Given the description of an element on the screen output the (x, y) to click on. 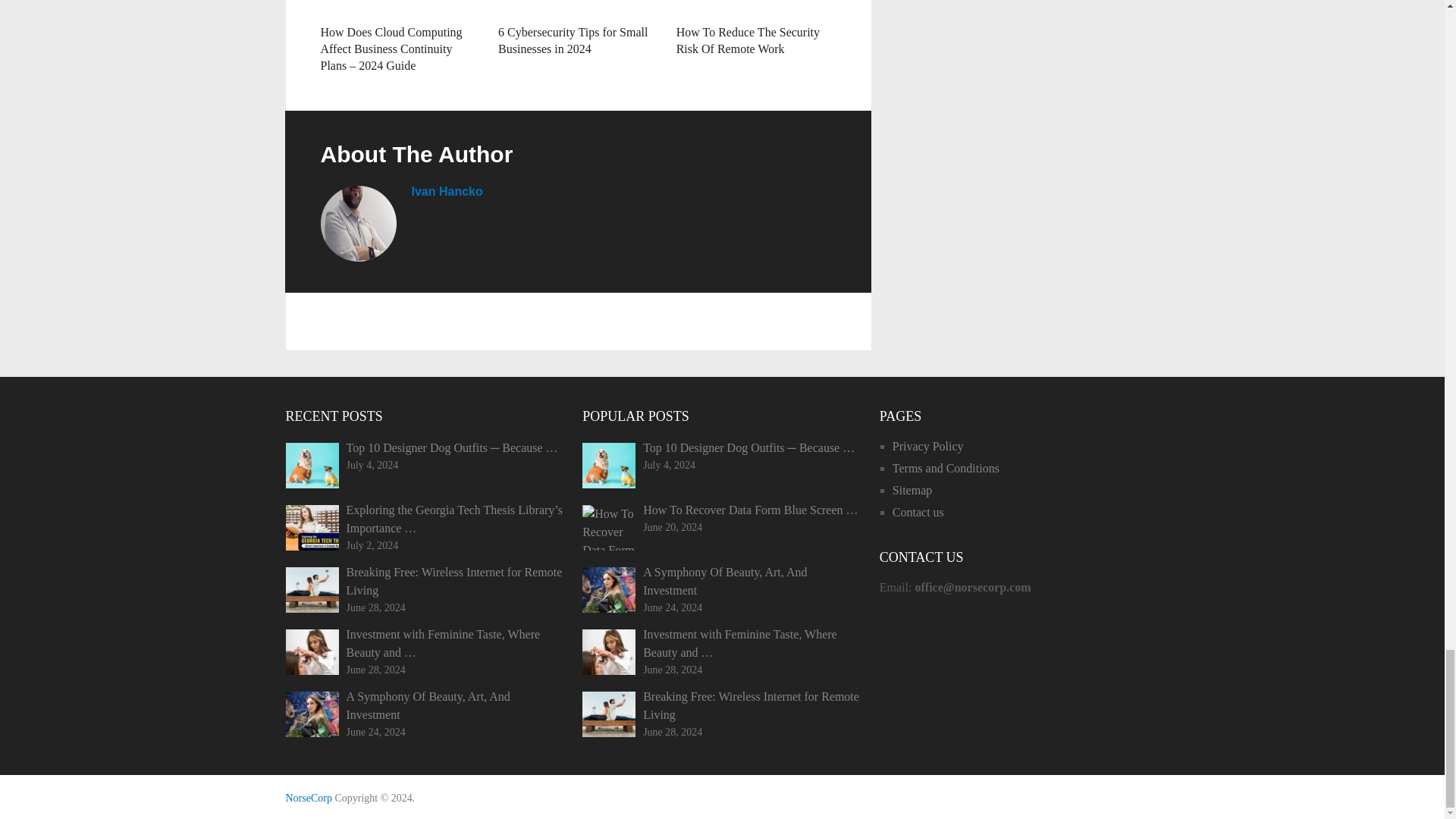
How To Reduce The Security Risk Of Remote Work (756, 8)
6 Cybersecurity Tips for Small Businesses in 2024 (572, 40)
How To Reduce The Security Risk Of Remote Work (748, 40)
Ivan Hancko (445, 191)
How To Reduce The Security Risk Of Remote Work (748, 40)
6 Cybersecurity Tips for Small Businesses in 2024 (577, 8)
6 Cybersecurity Tips for Small Businesses in 2024 (572, 40)
